Given the description of an element on the screen output the (x, y) to click on. 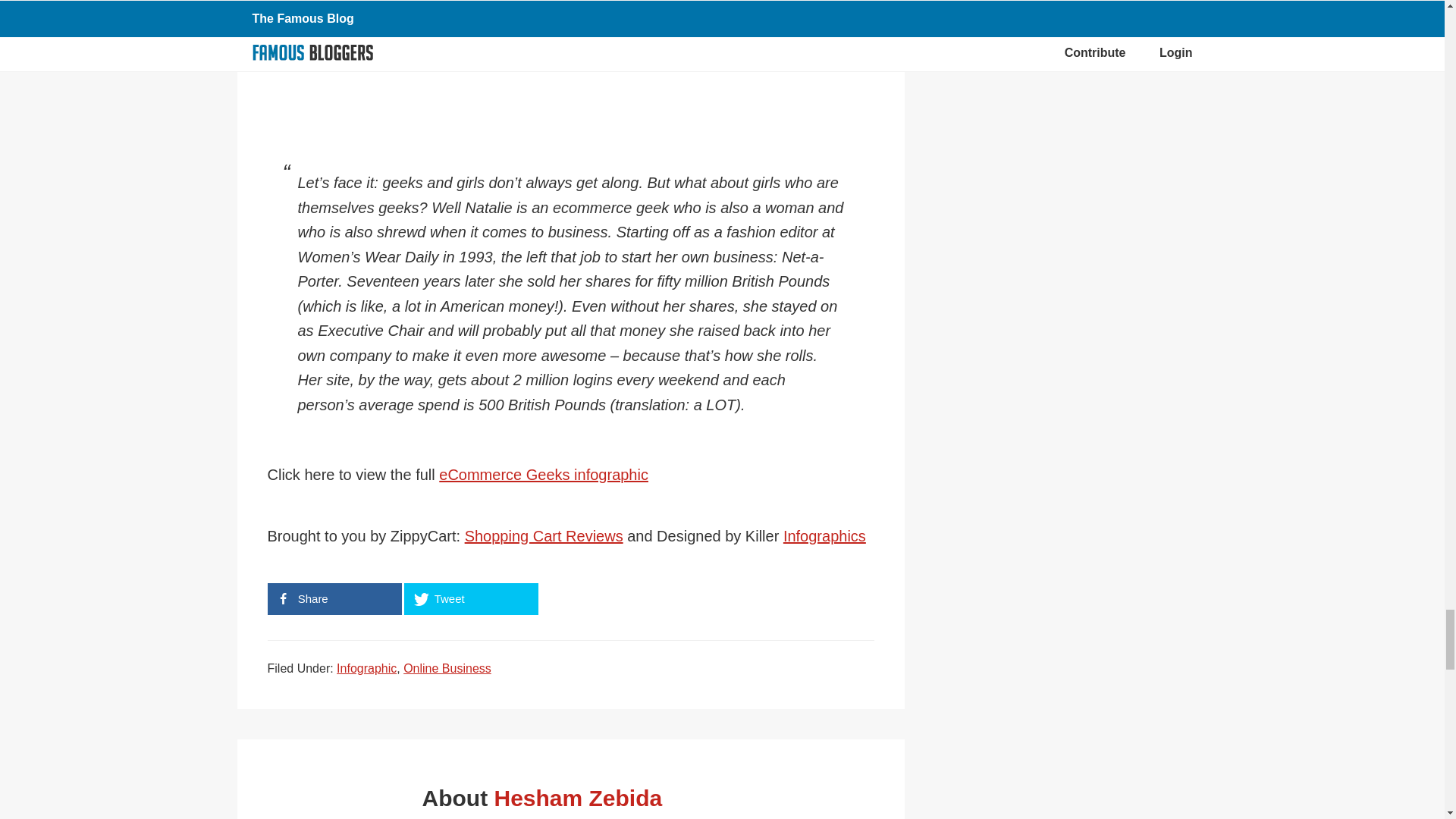
Online Business (447, 667)
Share (333, 599)
eCommerce Geeks infographic (543, 474)
Tweet (470, 599)
Infographic (366, 667)
Hesham Zebida (577, 797)
Shopping Cart Reviews (543, 535)
Infographics (824, 535)
